Given the description of an element on the screen output the (x, y) to click on. 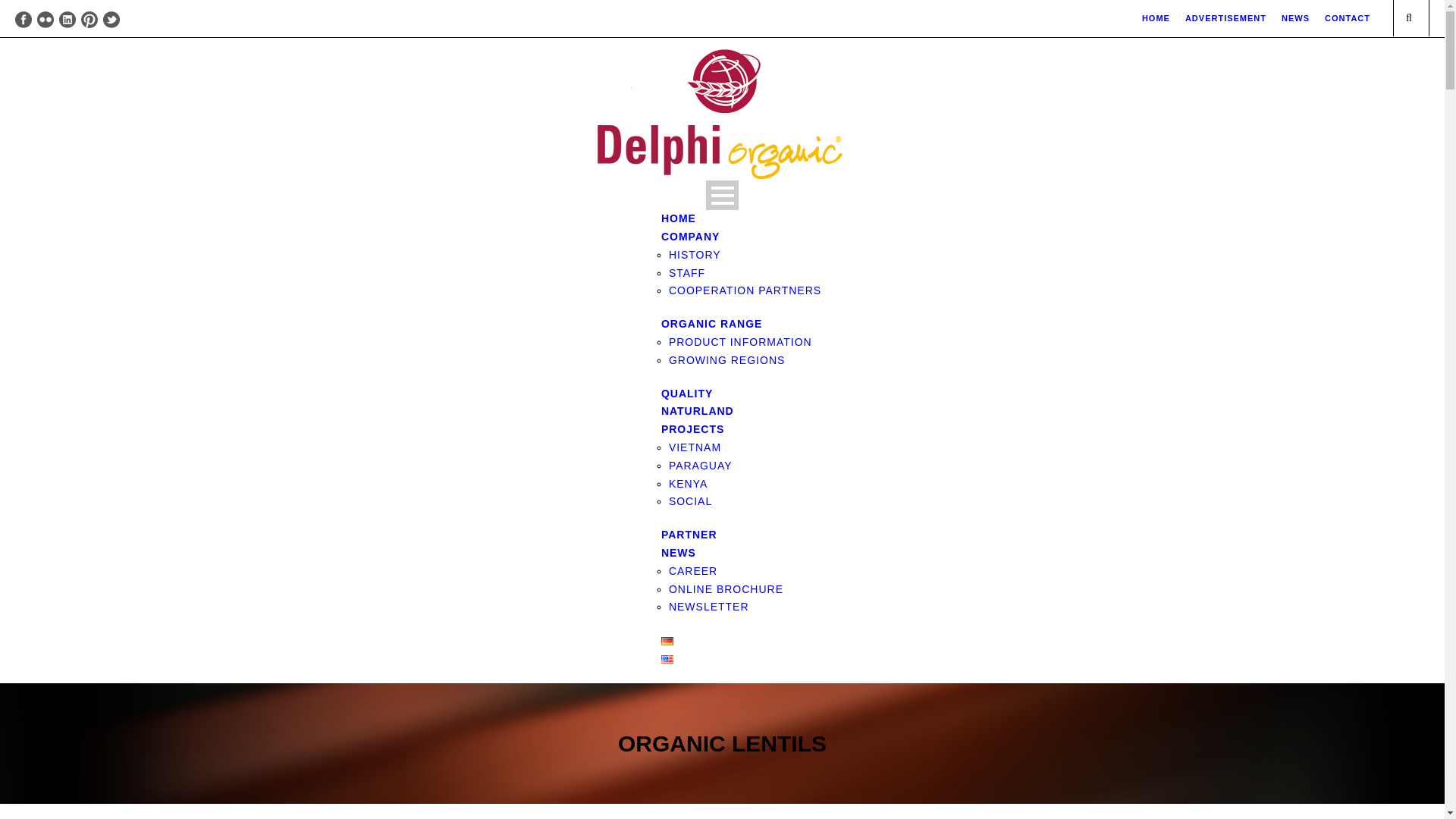
STAFF (686, 272)
COMPANY (690, 236)
HISTORY (694, 254)
ORGANIC RANGE (711, 323)
HOME (1155, 17)
Open Menu (722, 194)
HOME (678, 217)
PRODUCT INFORMATION (740, 341)
CONTACT (1347, 17)
COOPERATION PARTNERS (744, 290)
ADVERTISEMENT (1225, 17)
NEWS (1294, 17)
